Given the description of an element on the screen output the (x, y) to click on. 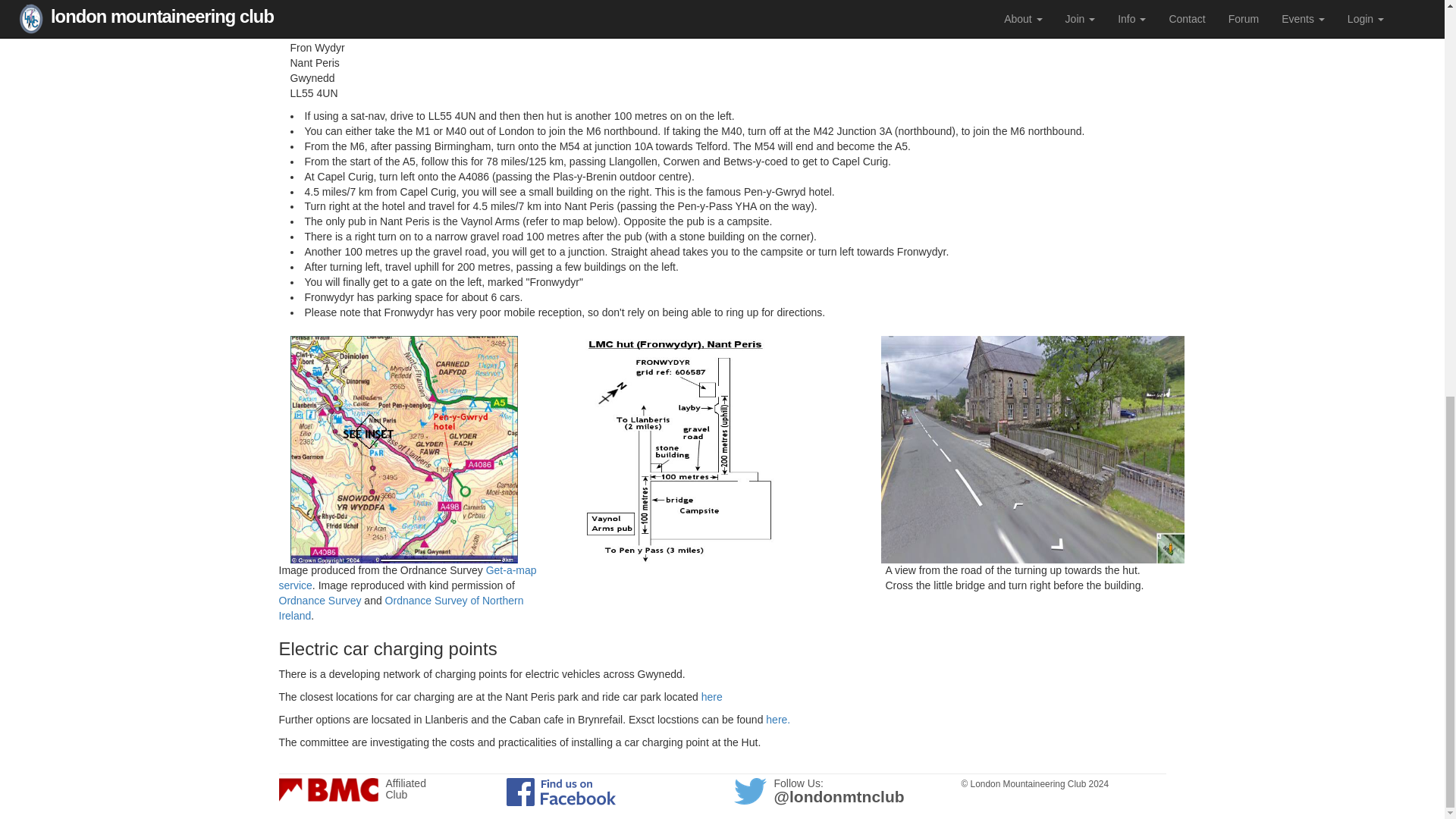
Ordnance Survey (320, 600)
Get-a-map service (408, 577)
Ordnance Survey of Northern Ireland (401, 607)
here (711, 696)
PDF Format (537, 4)
